Given the description of an element on the screen output the (x, y) to click on. 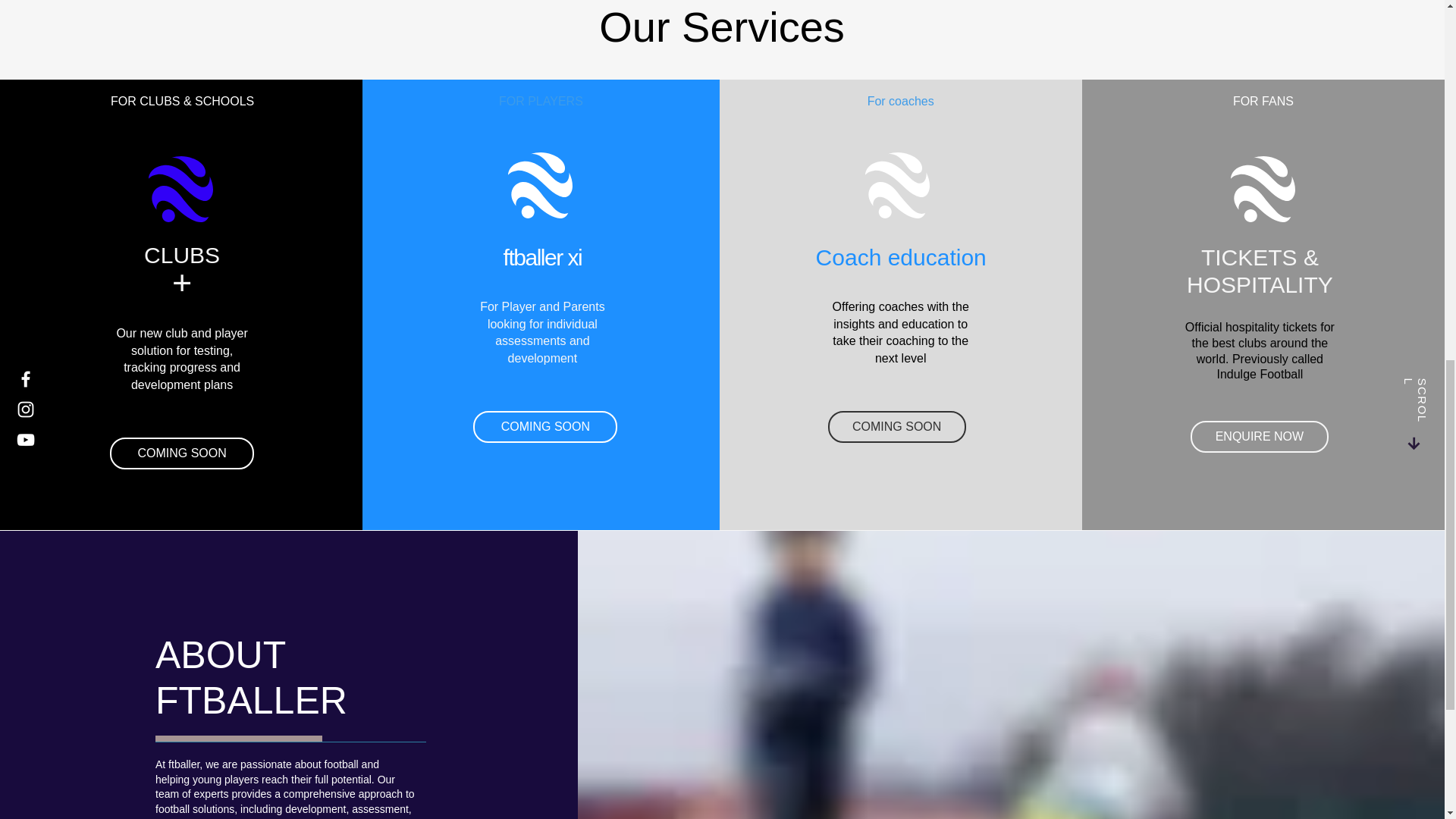
ENQUIRE NOW (1259, 436)
